Given the description of an element on the screen output the (x, y) to click on. 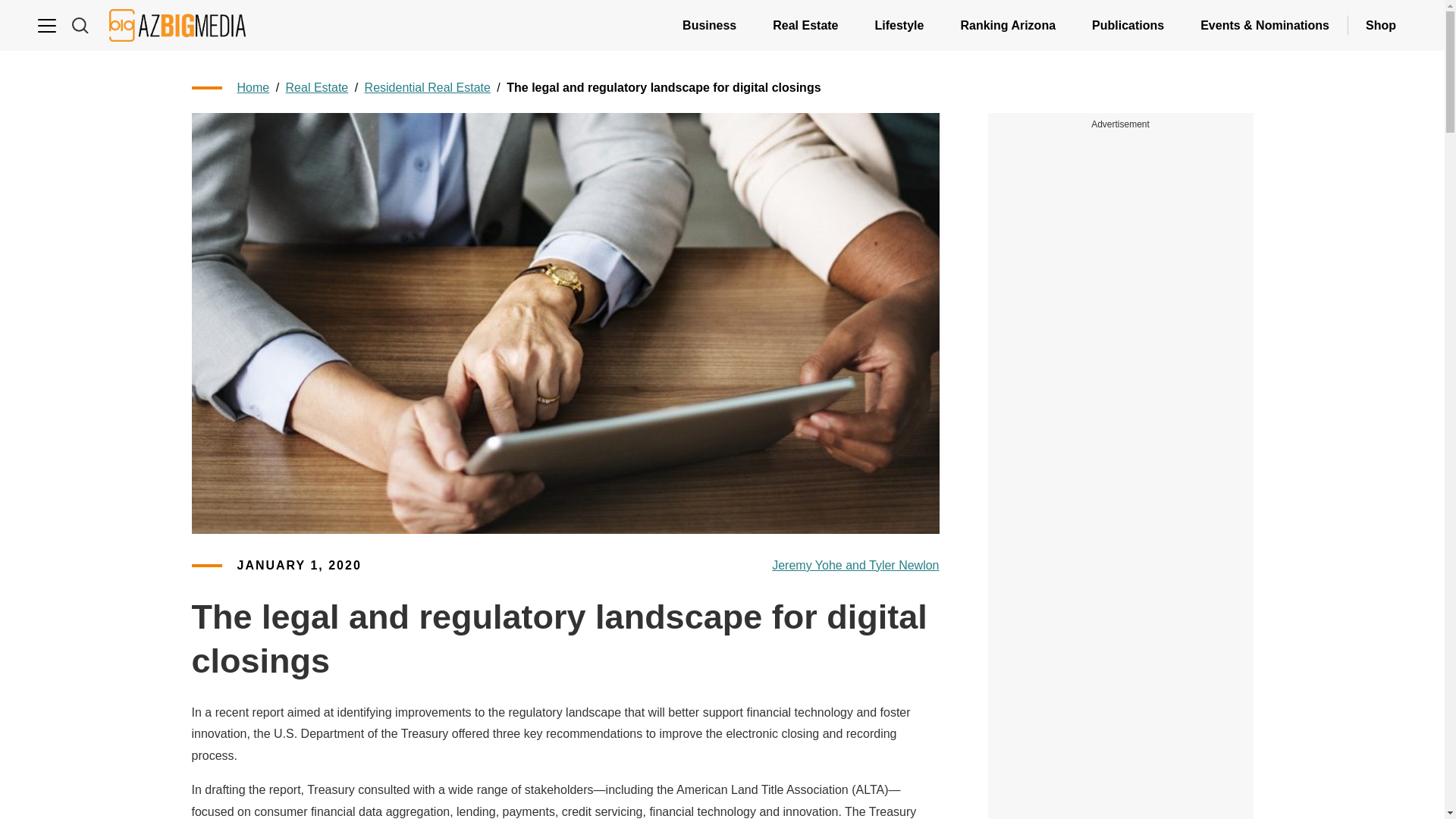
Business (708, 25)
3rd party ad content (1120, 339)
3rd party ad content (1120, 776)
Posts by Jeremy Yohe and Tyler Newlon (855, 566)
AZ Big Media Logo (177, 25)
